Given the description of an element on the screen output the (x, y) to click on. 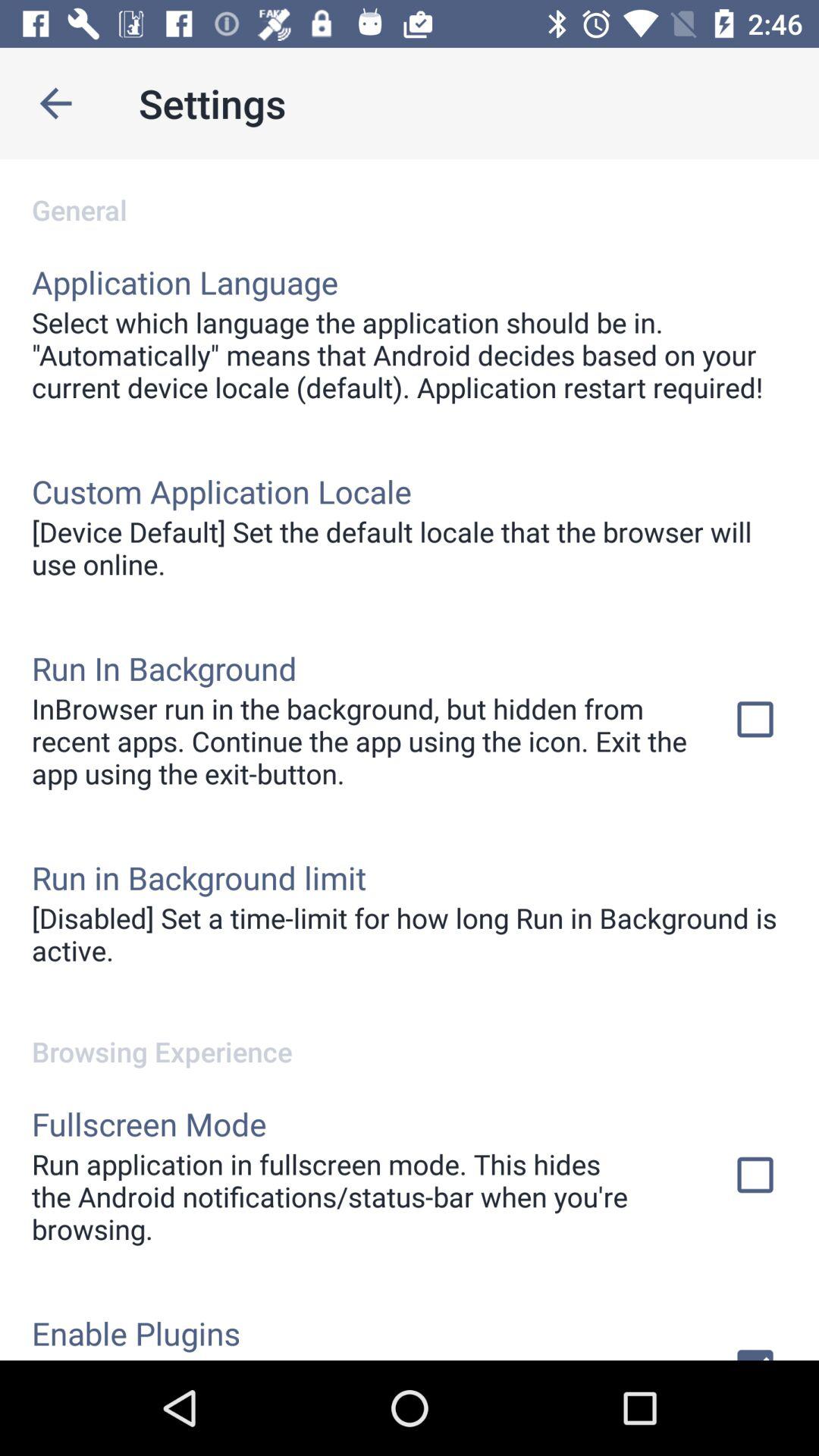
open icon to the left of   settings app (55, 103)
